Given the description of an element on the screen output the (x, y) to click on. 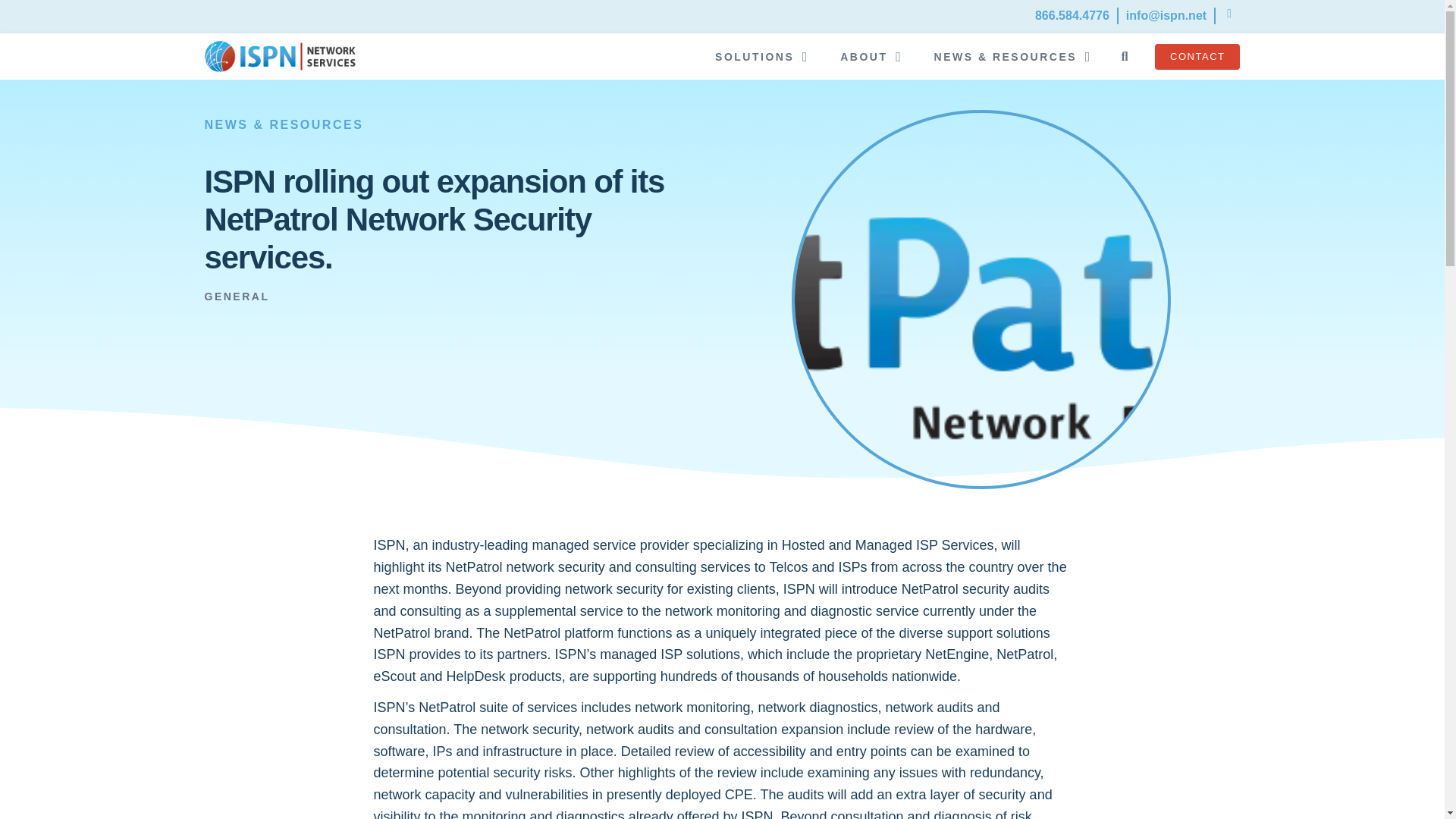
CONTACT (1197, 56)
GENERAL (237, 296)
ABOUT (863, 56)
SOLUTIONS (753, 56)
866.584.4776 (1072, 15)
